Given the description of an element on the screen output the (x, y) to click on. 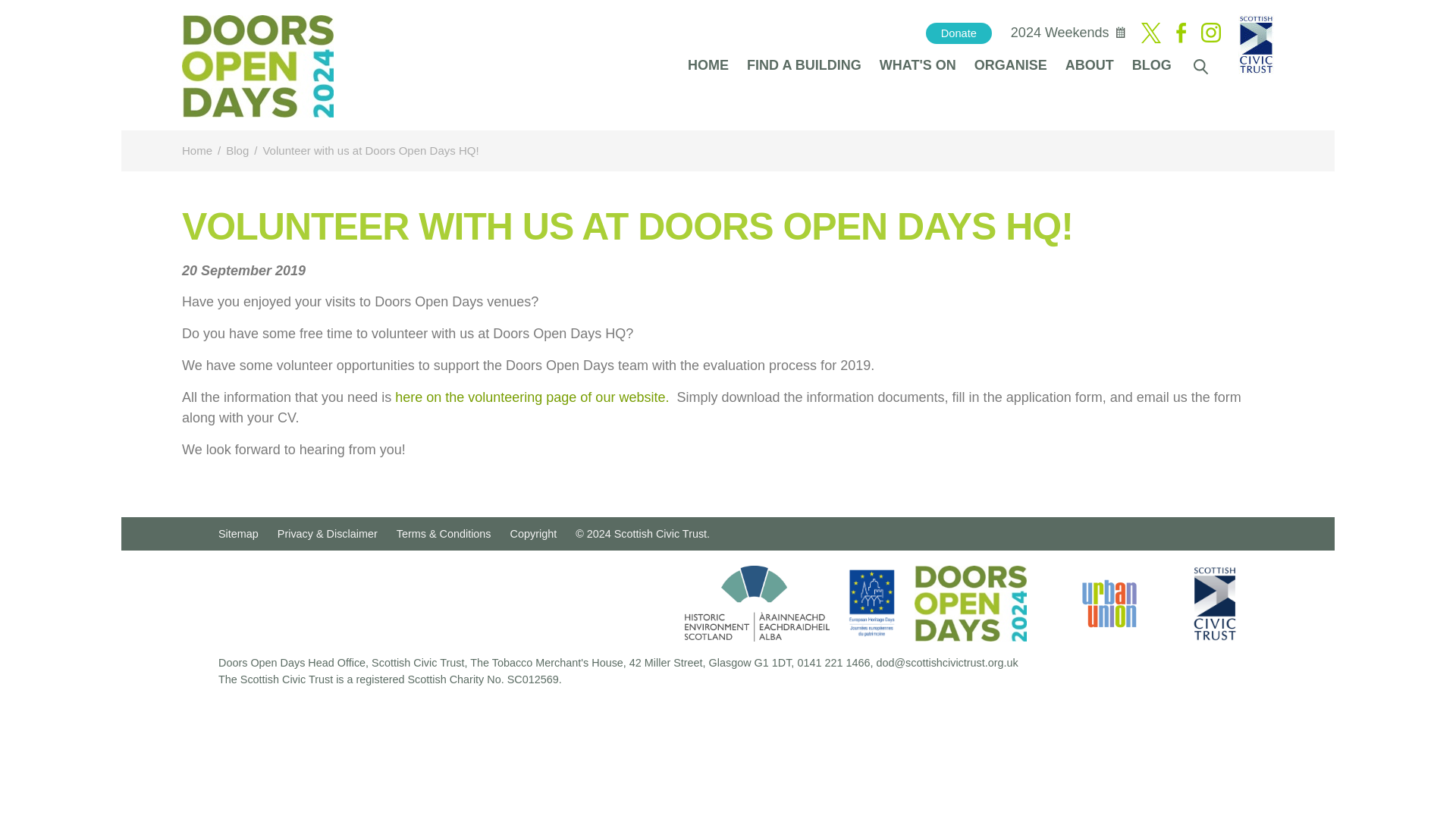
BLOG (1151, 64)
Sitemap (238, 533)
Donate (958, 33)
Volunteer with us at Doors Open Days HQ! (370, 150)
ABOUT (1089, 64)
here on the volunteering page of our website. (531, 396)
Copyright (534, 533)
HOME (708, 64)
Blog (236, 150)
Donate (958, 33)
ORGANISE (1011, 64)
2024 Weekends (1059, 32)
Home (197, 150)
FIND A BUILDING (804, 64)
Donate with PayPal (958, 33)
